Given the description of an element on the screen output the (x, y) to click on. 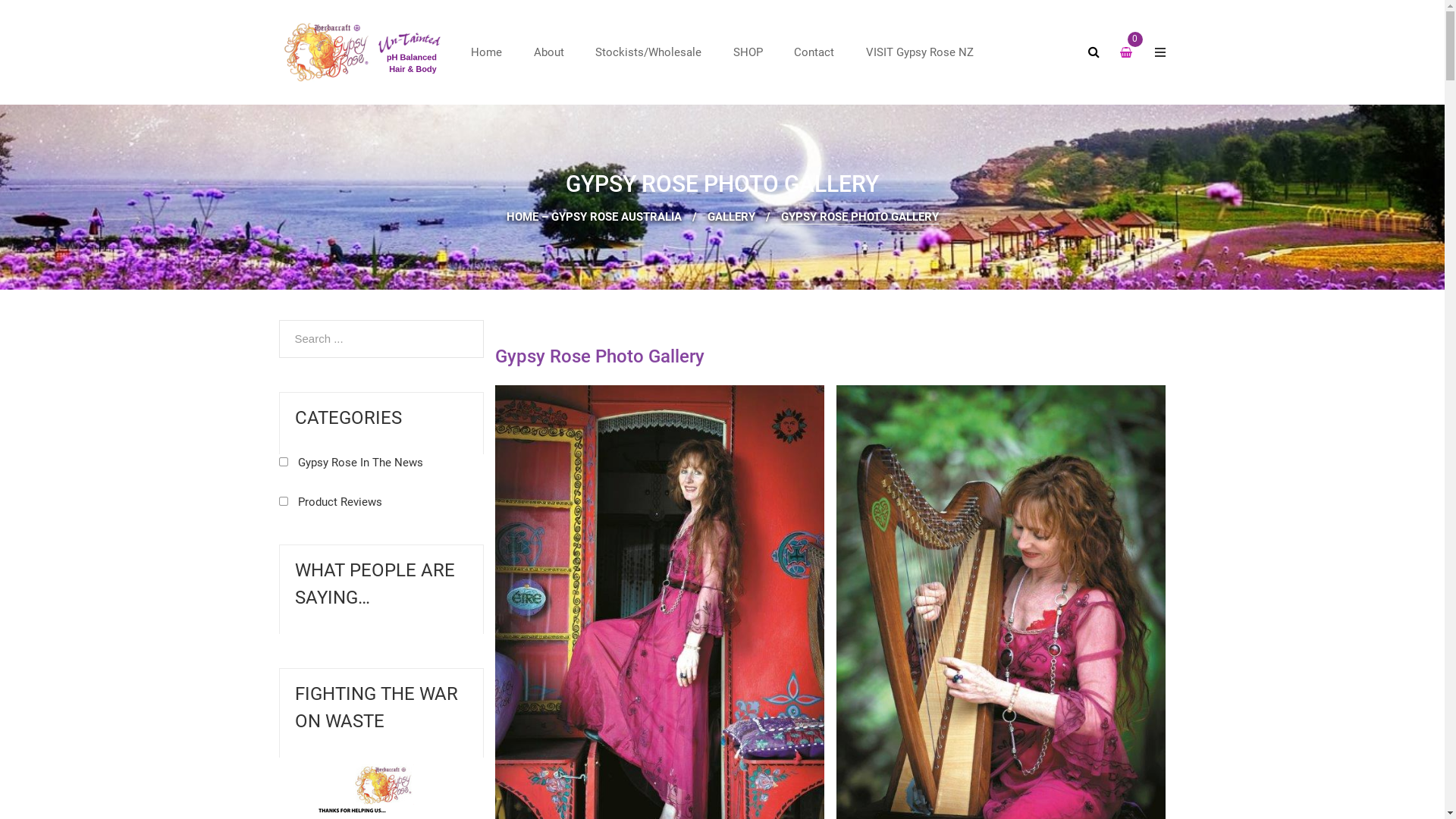
Contact Element type: text (813, 52)
GALLERY Element type: text (730, 216)
0 Element type: text (1134, 53)
Gypsy Rose Element type: hover (367, 51)
VISIT Gypsy Rose NZ Element type: text (919, 52)
About Element type: text (548, 52)
Stockists/Wholesale Element type: text (647, 52)
Home Element type: text (486, 52)
Product Reviews Element type: text (330, 501)
Gypsy Rose In The News Element type: text (351, 462)
SHOP Element type: text (747, 52)
